Given the description of an element on the screen output the (x, y) to click on. 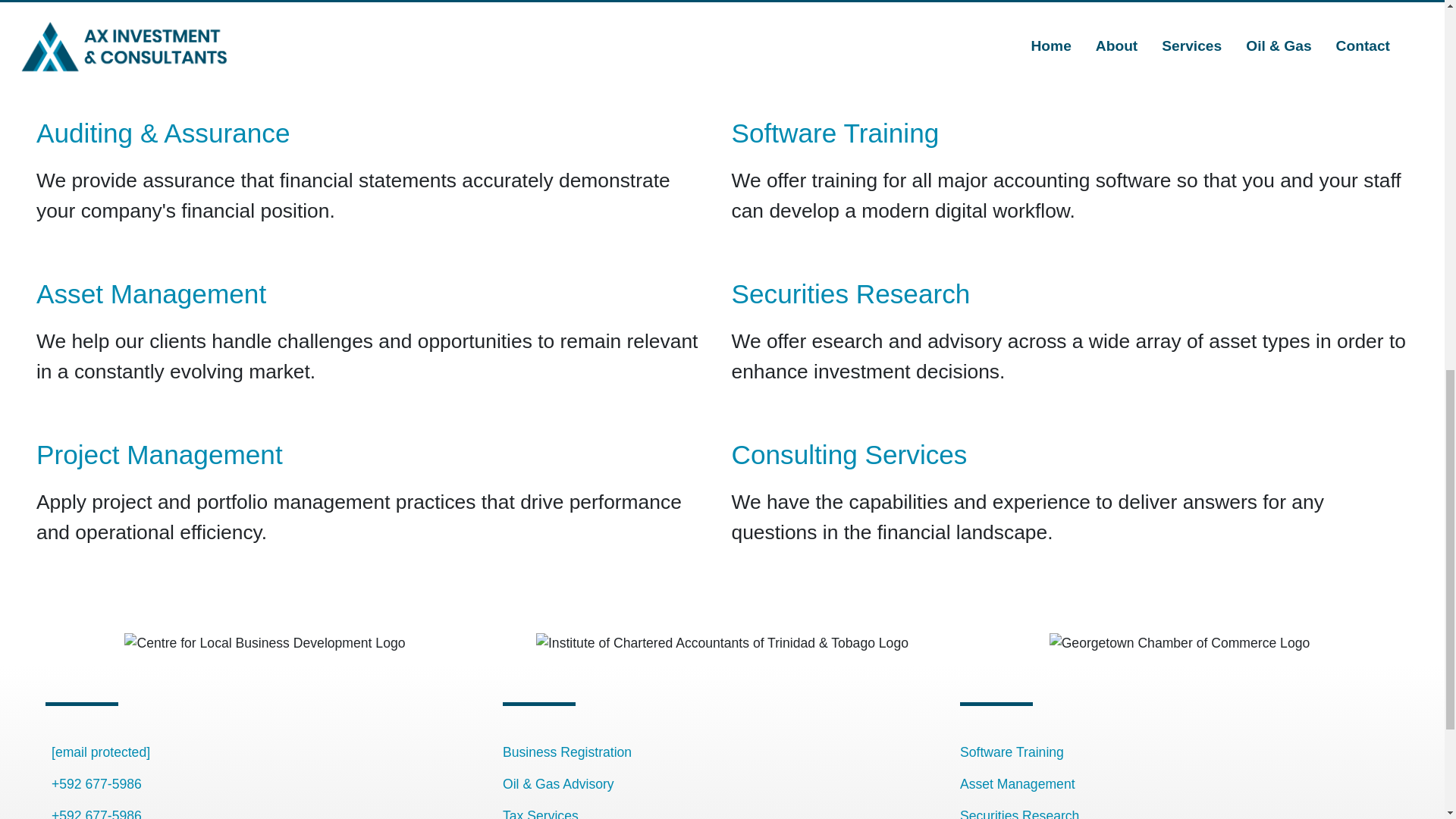
Securities Research (849, 293)
Software Training (834, 132)
Asset Management (1017, 783)
Consulting Services (848, 454)
Project Management (159, 454)
Asset Management (151, 293)
Business Registration (566, 752)
Software Training (1011, 752)
Tax Services (540, 813)
Securities Research (1018, 813)
